Given the description of an element on the screen output the (x, y) to click on. 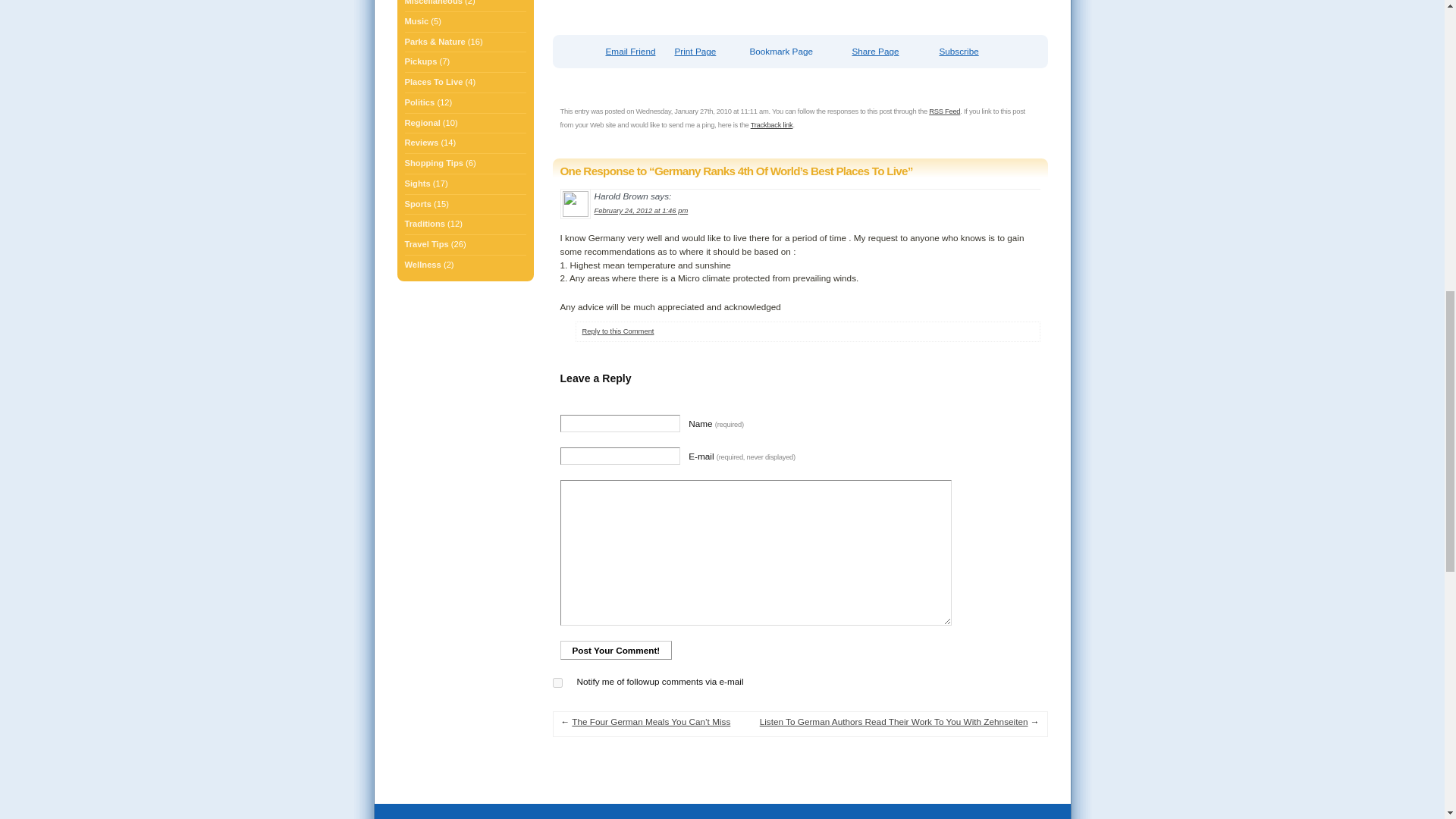
subscribe (556, 682)
Miscellaneous (433, 4)
Bookmark Page (781, 51)
Bookmark this Page (781, 51)
Print this page (692, 51)
Music (416, 21)
Post Your Comment! (615, 650)
RSS Feed (943, 111)
Email Friend (621, 51)
Print Page (692, 51)
Reply to this Comment (617, 330)
Subscribe (957, 51)
Post Your Comment! (615, 650)
Email Friend (621, 51)
